Given the description of an element on the screen output the (x, y) to click on. 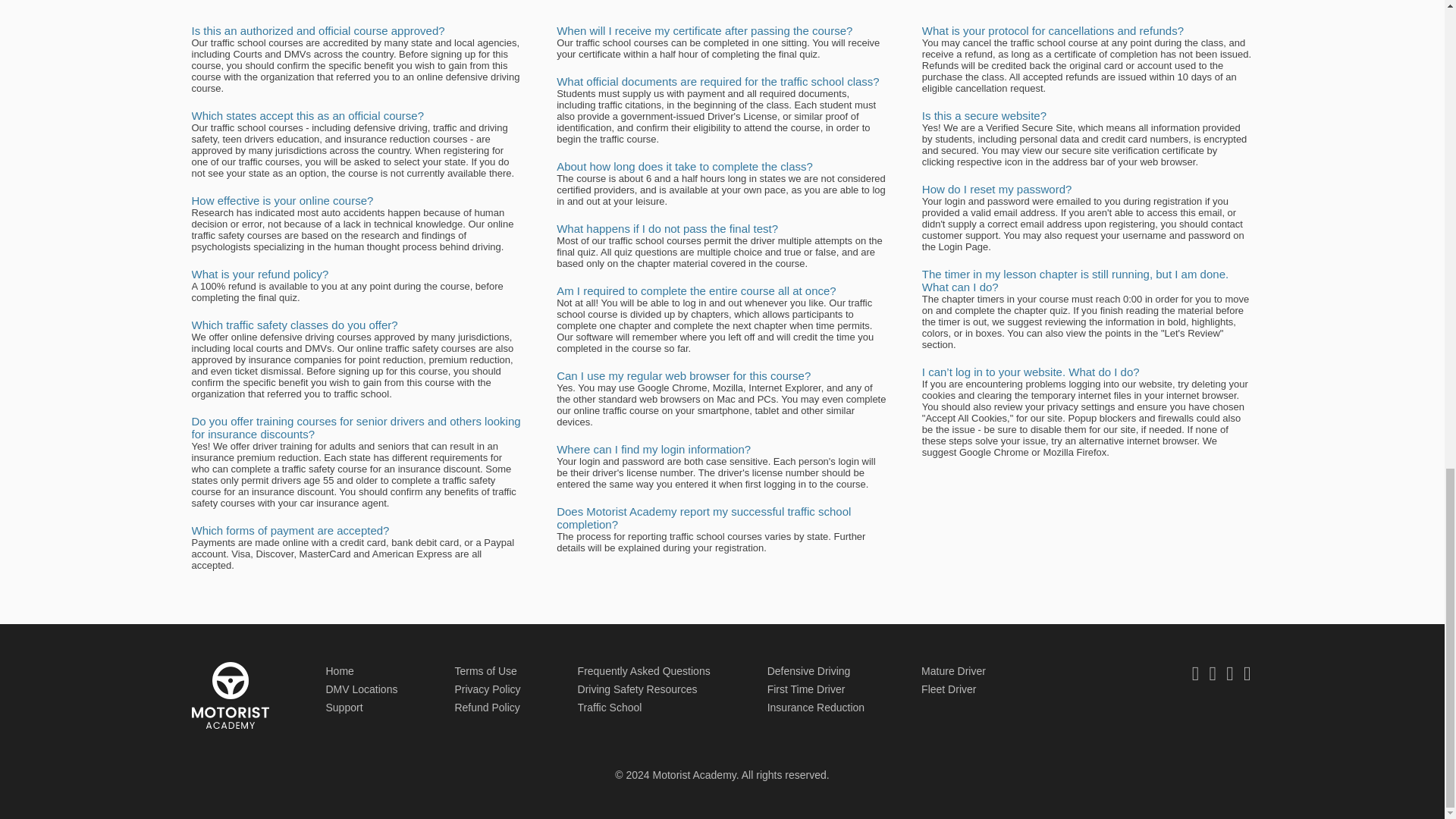
Privacy Policy (486, 689)
Frequently Asked Questions (644, 671)
Home (339, 671)
Traffic School (610, 707)
Terms of Use (485, 671)
Mature Driver (953, 671)
Insurance Reduction (815, 707)
DMV Locations (361, 689)
Support (344, 707)
Refund Policy (486, 707)
Driving Safety Resources (637, 689)
Defensive Driving (808, 671)
Motorist Academy (228, 694)
Fleet Driver (948, 689)
First Time Driver (806, 689)
